Given the description of an element on the screen output the (x, y) to click on. 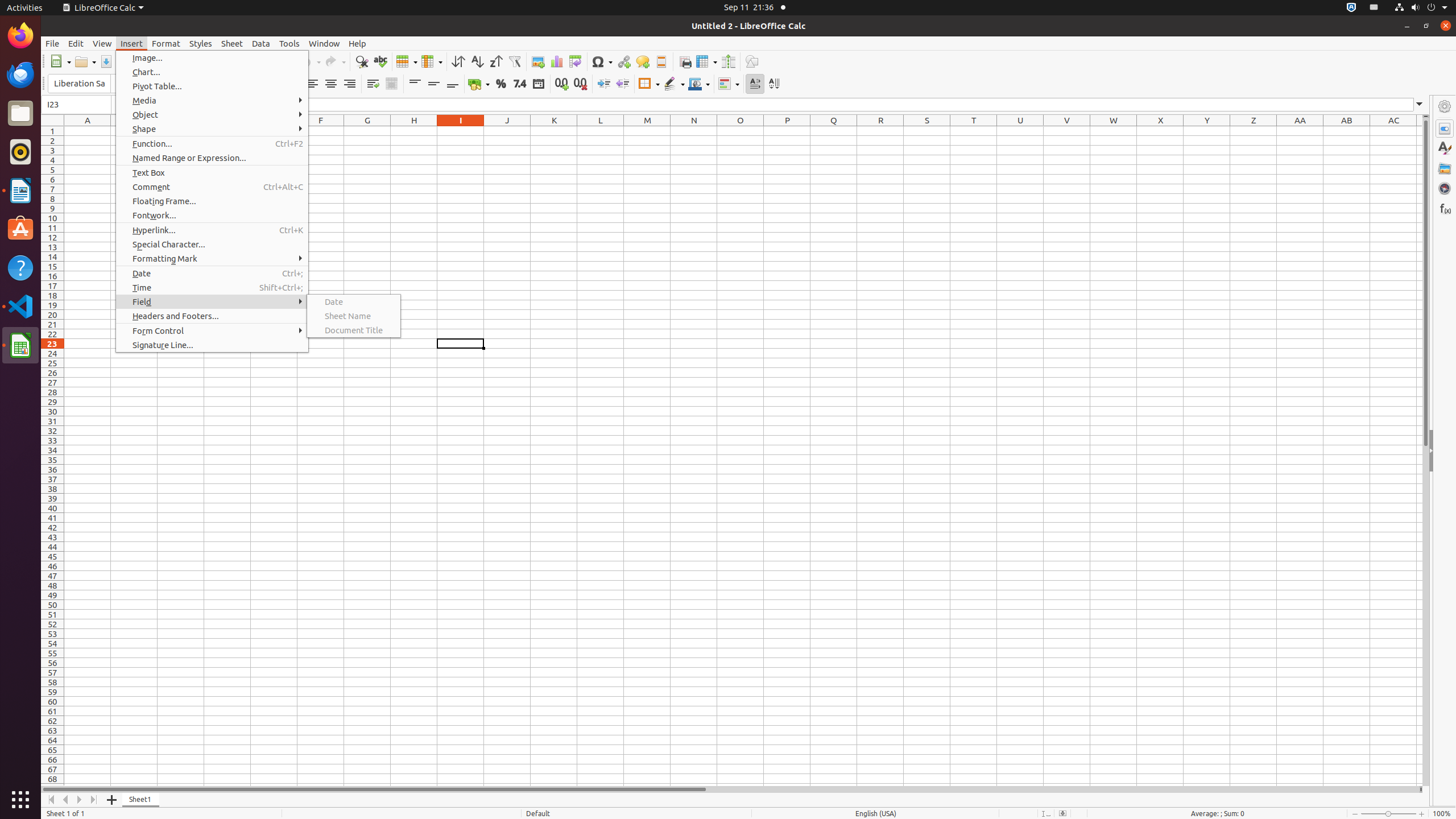
Special Character... Element type: menu-item (212, 244)
Apply Style Element type: text (41, 73)
Symbol Element type: push-button (601, 61)
Media Element type: menu (212, 100)
